Given the description of an element on the screen output the (x, y) to click on. 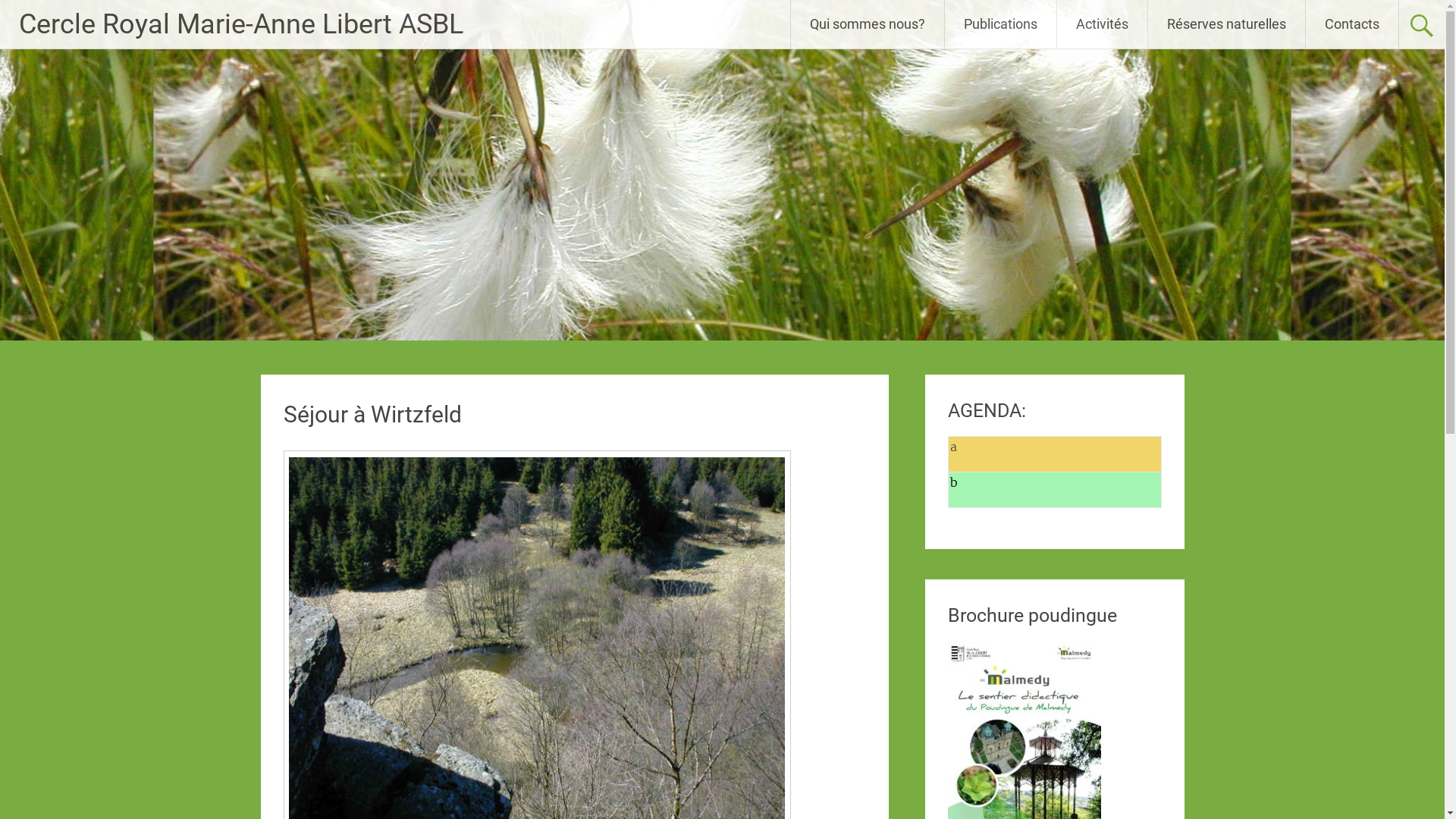
Contacts Element type: text (1351, 24)
Qui sommes nous? Element type: text (867, 24)
Cercle Royal Marie-Anne Libert ASBL Element type: text (240, 24)
Publications Element type: text (1000, 24)
